Given the description of an element on the screen output the (x, y) to click on. 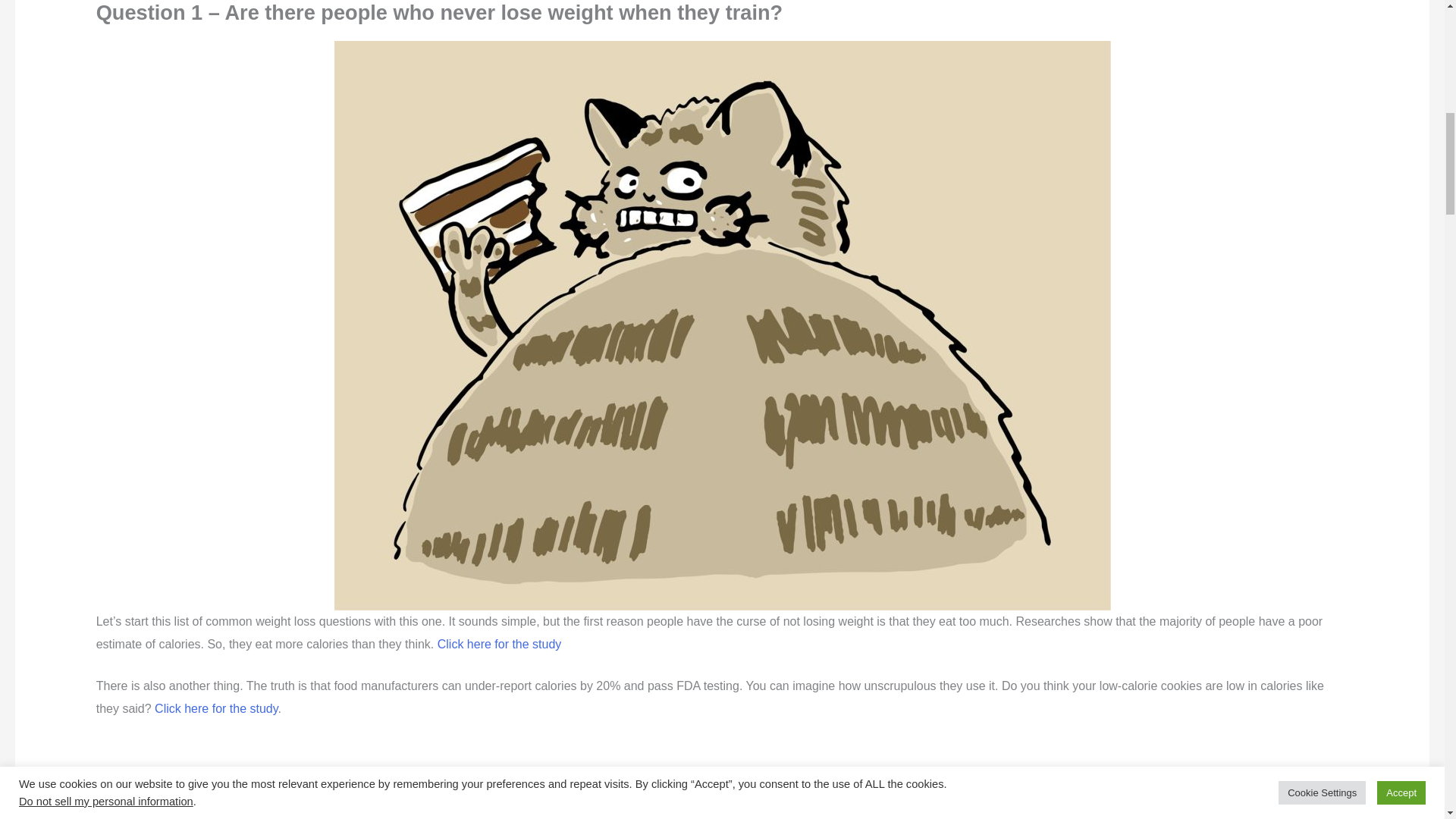
Advertisement (470, 779)
Click here for the study (216, 707)
Click here for the study (500, 644)
